Given the description of an element on the screen output the (x, y) to click on. 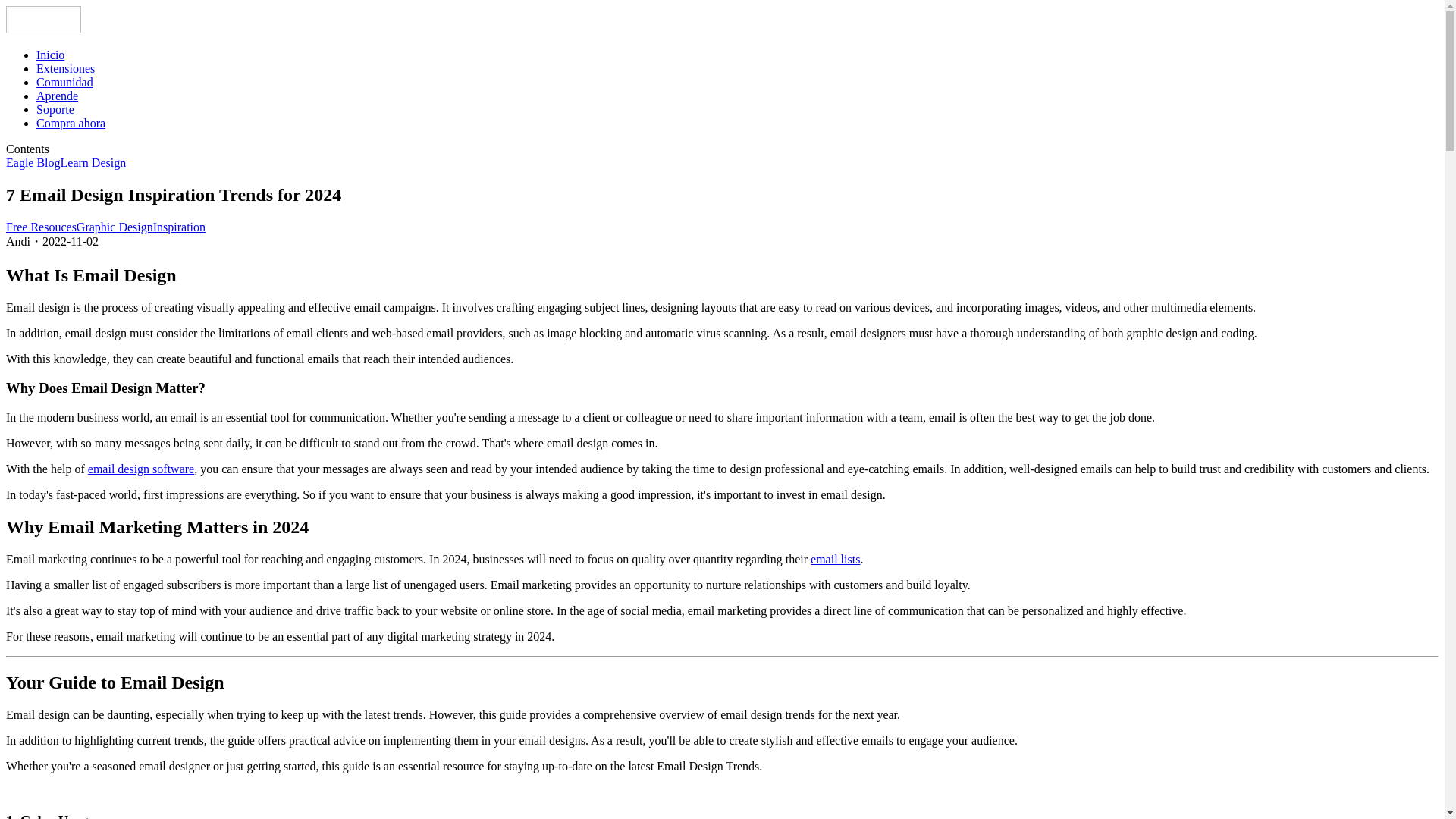
Aprende (57, 95)
Comunidad (64, 82)
email lists (835, 558)
Compra ahora (70, 123)
Learn Design (93, 162)
Soporte (55, 109)
Inspiration (178, 226)
Inicio (50, 54)
email design software (140, 468)
Aprende (57, 95)
Eagle Blog (33, 162)
Eagle (43, 29)
Graphic Design (114, 226)
Extensiones (65, 68)
Extensiones (65, 68)
